Given the description of an element on the screen output the (x, y) to click on. 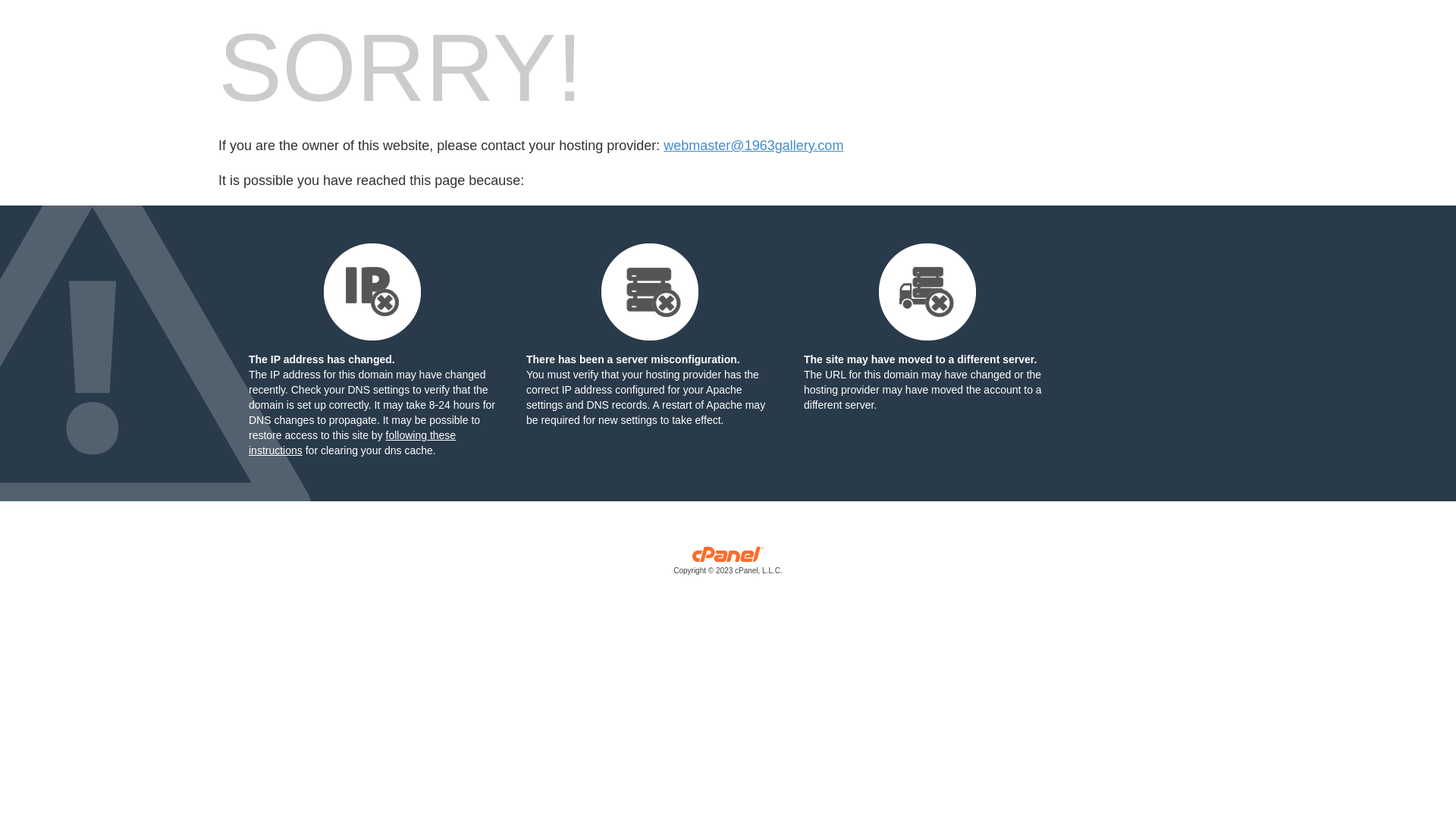
webmaster@1963gallery.com Element type: text (753, 145)
following these instructions Element type: text (351, 442)
